Given the description of an element on the screen output the (x, y) to click on. 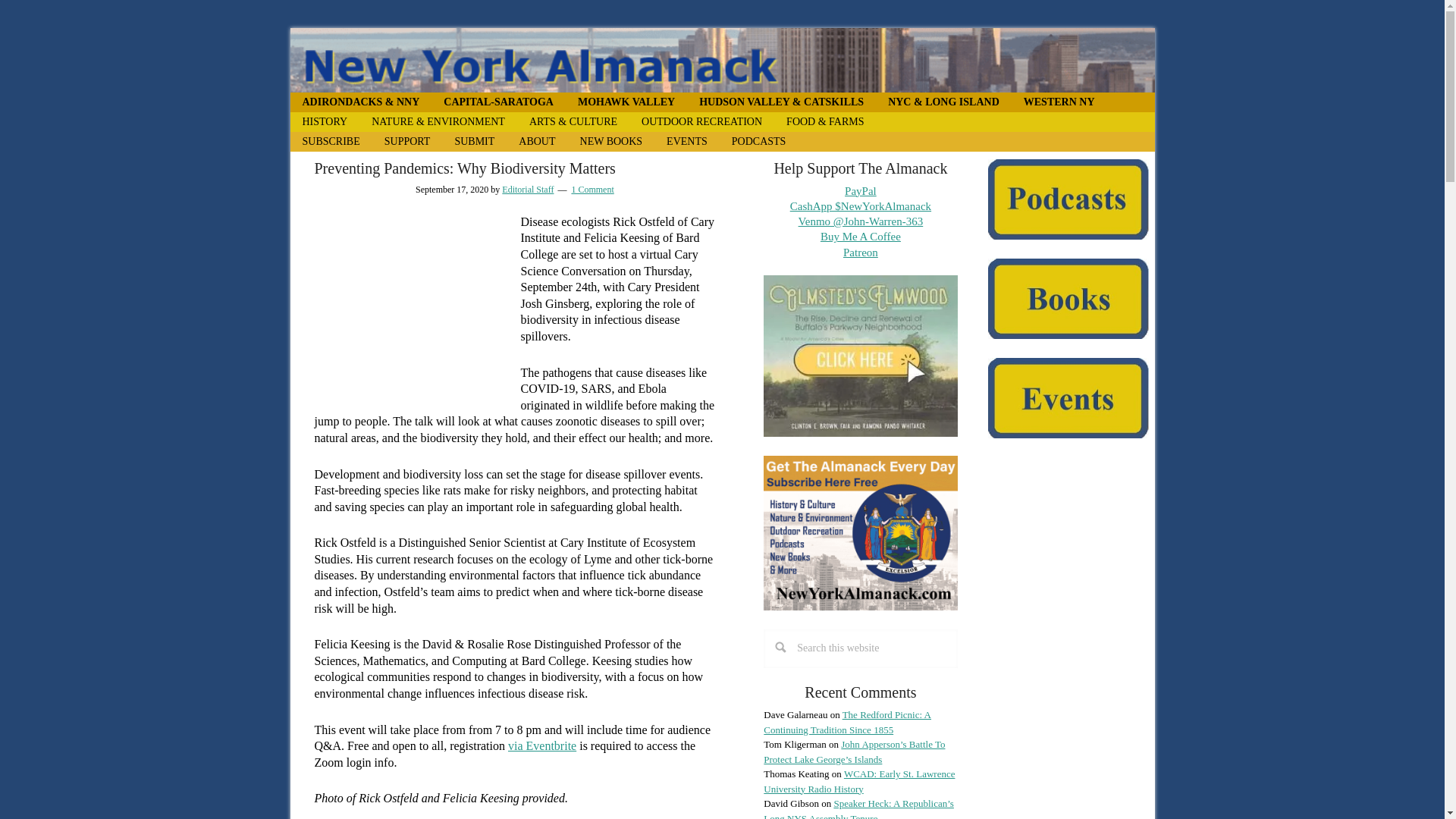
OUTDOOR RECREATION (701, 121)
EVENTS (686, 141)
HISTORY (324, 121)
ABOUT (536, 141)
SUBMIT (474, 141)
SUPPORT (407, 141)
New York Almanack (721, 59)
PODCASTS (758, 141)
MOHAWK VALLEY (626, 102)
